Given the description of an element on the screen output the (x, y) to click on. 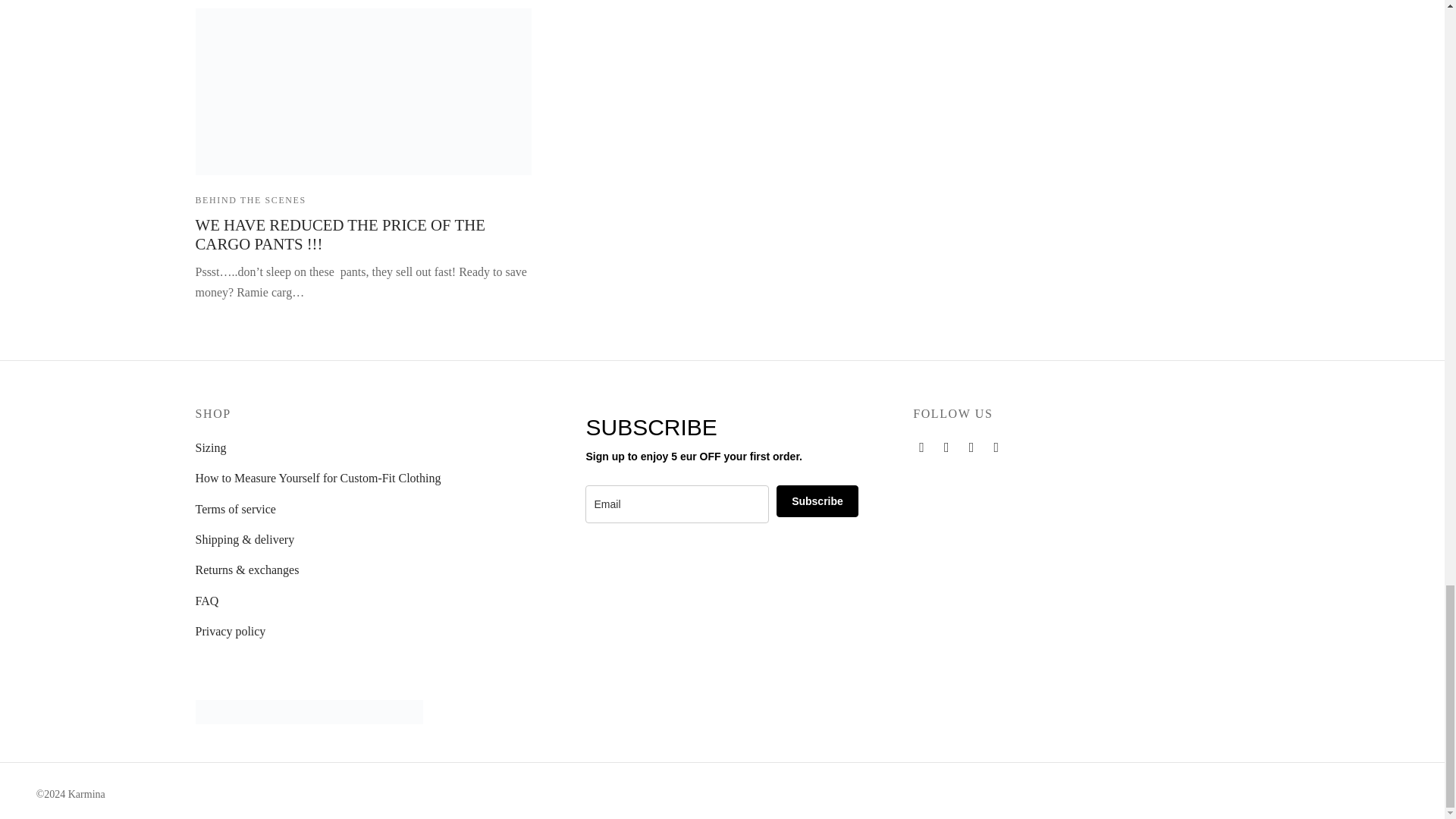
WE HAVE REDUCED THE PRICE OF THE CARGO PANTS !!! (339, 234)
WE HAVE REDUCED THE PRICE OF THE CARGO PANTS !!! (363, 91)
